Given the description of an element on the screen output the (x, y) to click on. 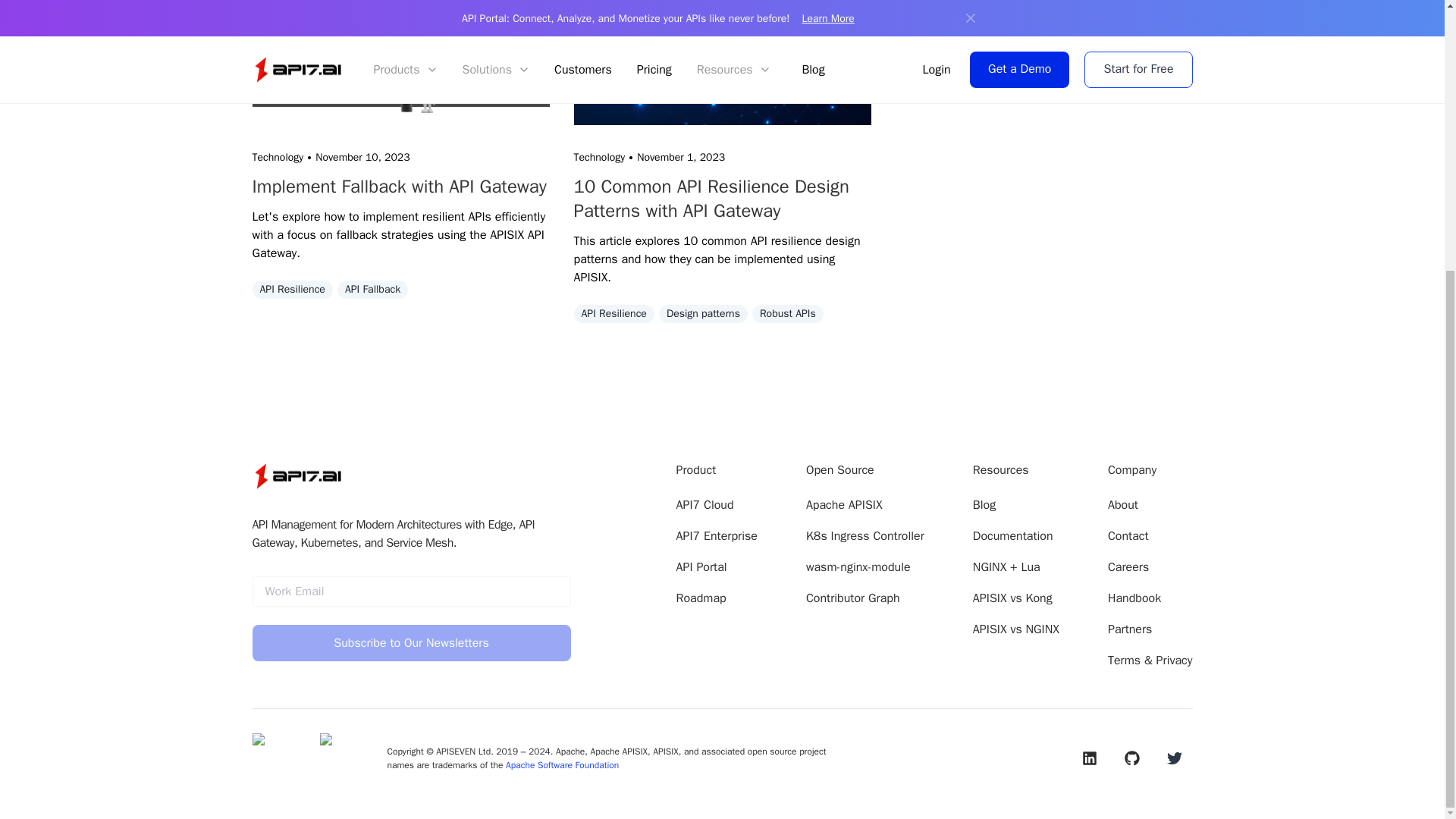
10 Common API Resilience Design Patterns with API Gateway (721, 198)
API Fallback (372, 290)
Contributor Graph (852, 598)
API7 Enterprise (717, 536)
APISIX vs Kong (1012, 598)
Implement Fallback with API Gateway (399, 186)
wasm-nginx-module (858, 567)
Design patterns (703, 314)
K8s Ingress Controller (865, 536)
API Resilience (291, 290)
